Given the description of an element on the screen output the (x, y) to click on. 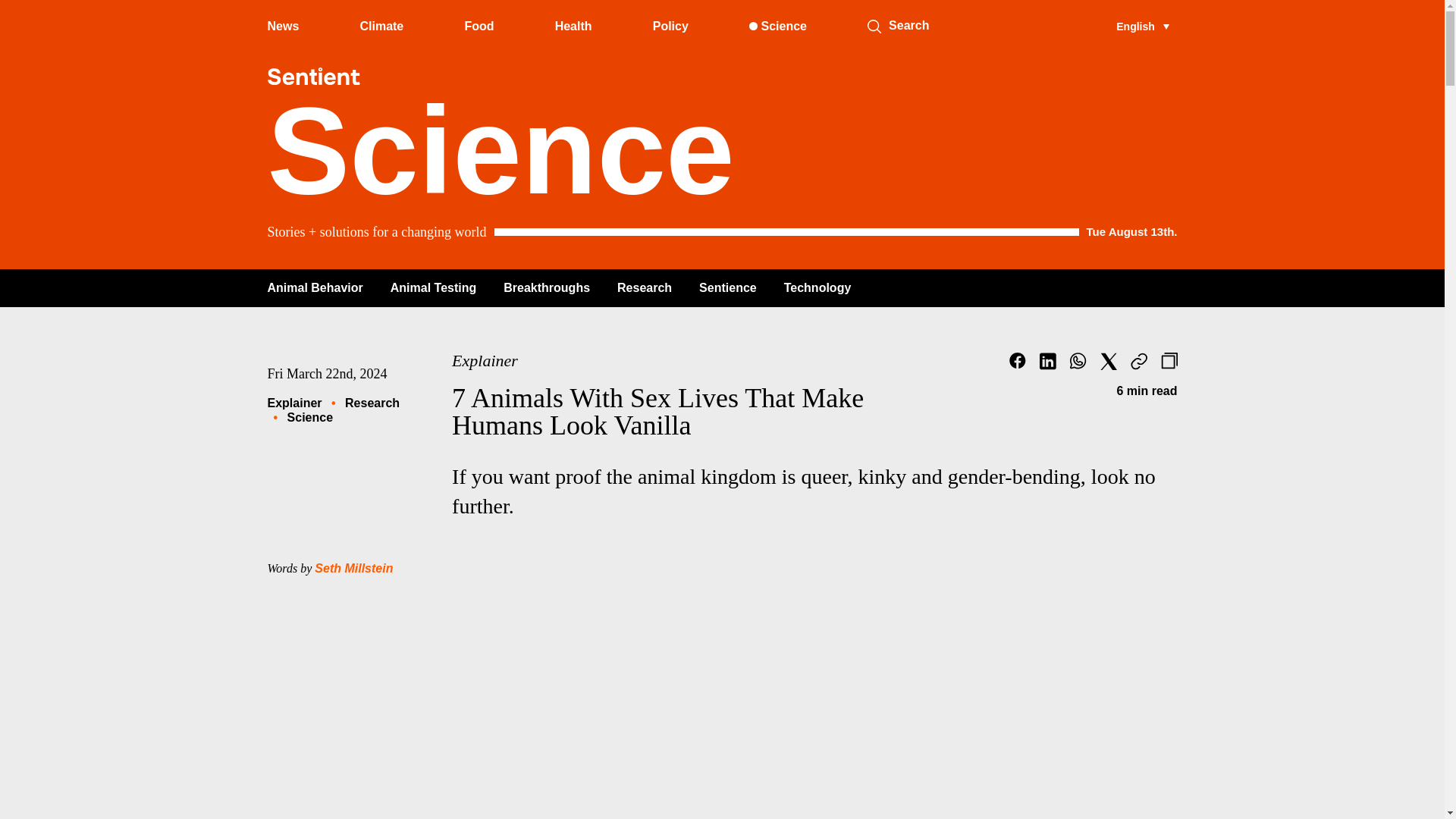
Technology (817, 287)
Breakthroughs (546, 287)
Research (644, 287)
Animal Behavior (314, 287)
Policy (670, 25)
Search (873, 26)
Health (573, 25)
English (1142, 26)
Animal Testing (433, 287)
Climate (381, 25)
